Given the description of an element on the screen output the (x, y) to click on. 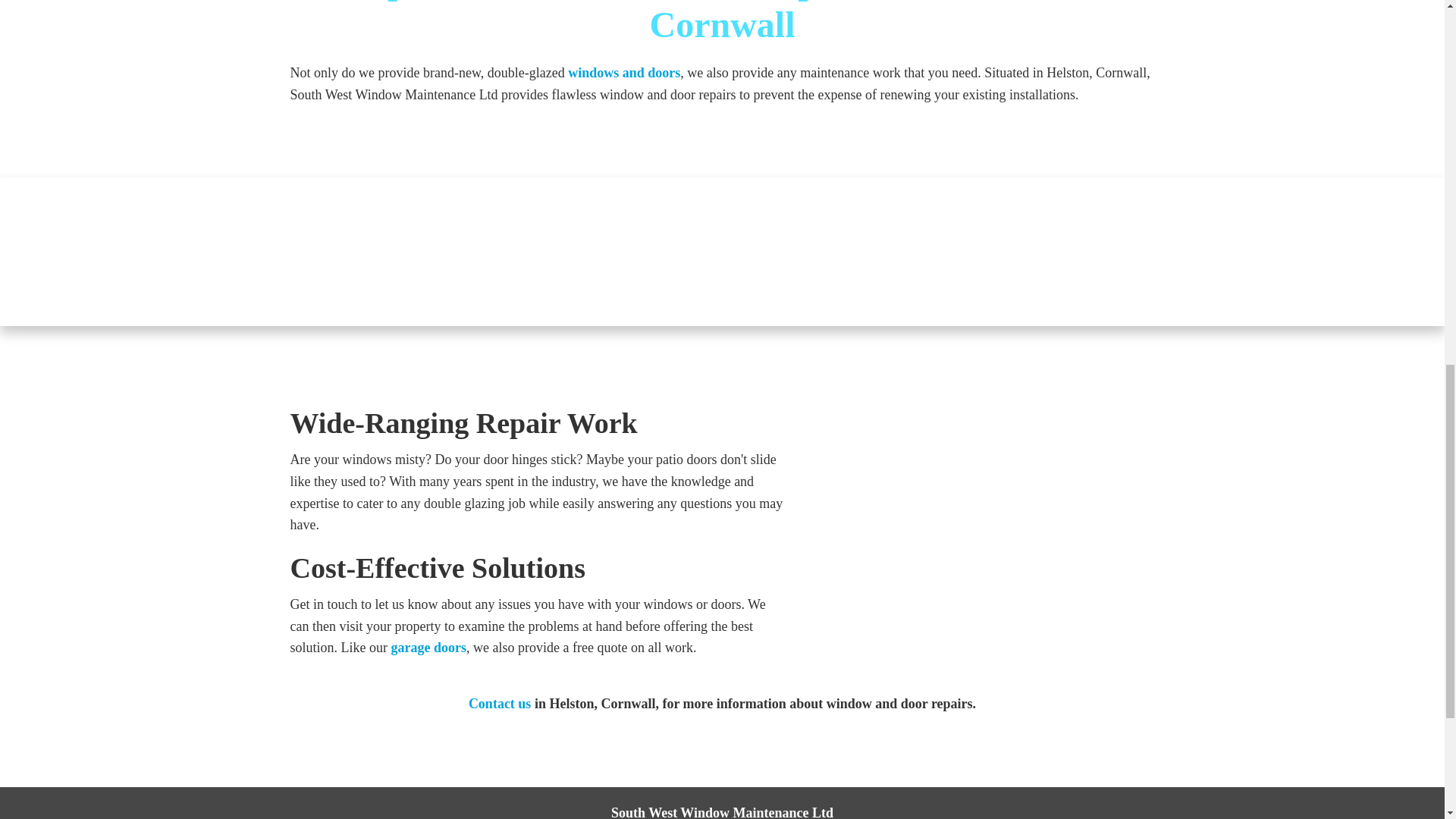
Contact us (499, 703)
garage doors (428, 647)
windows and doors (623, 72)
